Given the description of an element on the screen output the (x, y) to click on. 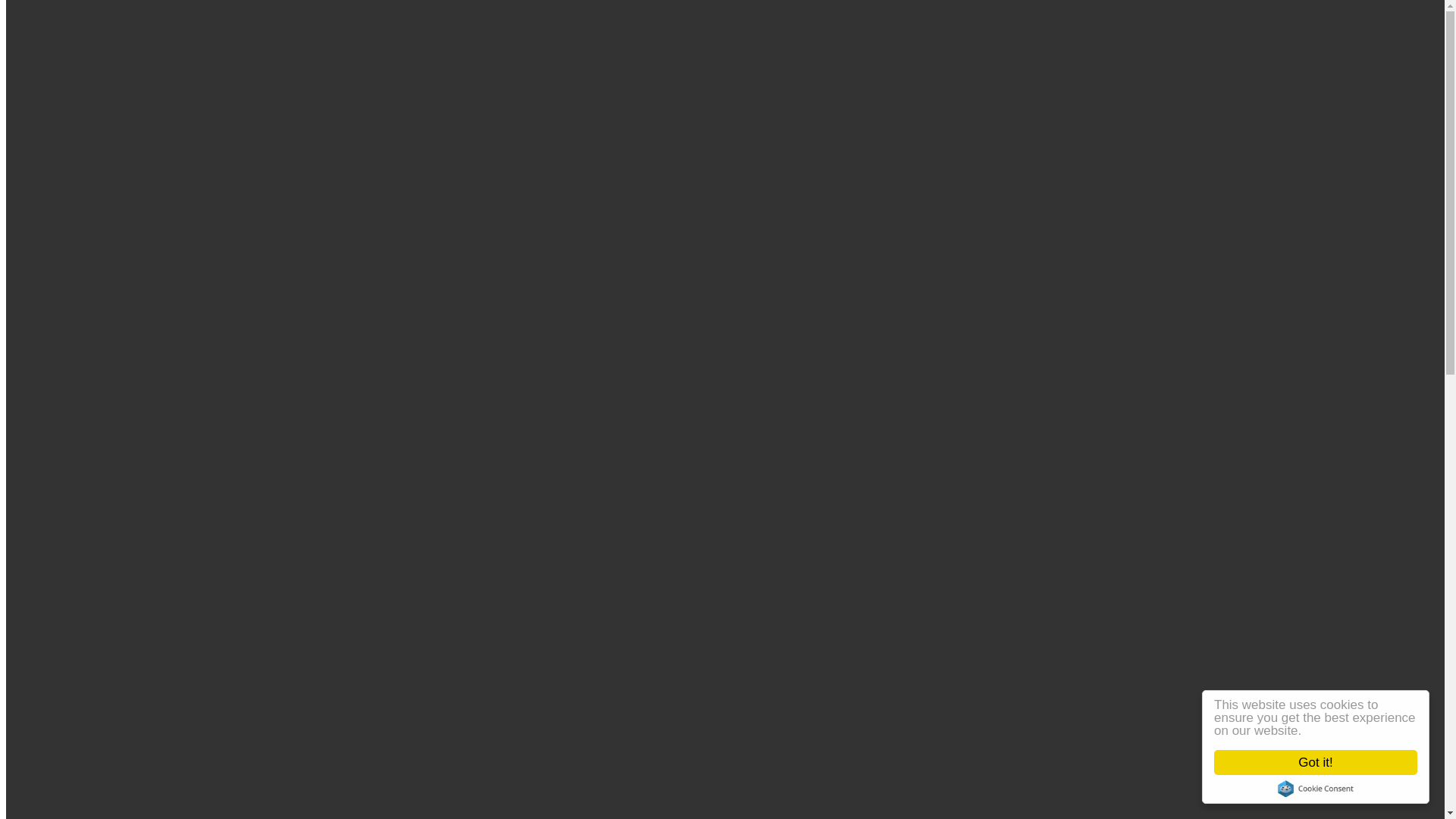
ECRs and other EDMS documents managed by the BE-EA Element type: text (210, 294)
Projects and Resources (PR) Element type: text (135, 362)
Meetings Element type: text (89, 253)
H8 Element type: text (104, 515)
Design & Coordination (DC) Element type: text (137, 321)
K12 Element type: text (107, 529)
About EA Element type: text (60, 212)
Cookie Consent plugin for the EU cookie law Element type: text (1315, 788)
Skip to main content Element type: text (6, 15)
H4 Element type: text (104, 488)
T10 Element type: text (106, 404)
Enter the terms you wish to search for. Element type: hover (88, 749)
CERN Accelerating science Element type: text (147, 29)
Gas Element type: text (75, 624)
Vacuum Team Element type: text (100, 665)
M2 Element type: text (105, 542)
Engineering & Configuration Management (EC) Element type: text (184, 335)
Project Element type: text (53, 679)
H2 Element type: text (104, 474)
Experimental Areas Element type: text (84, 376)
News for EA Element type: text (98, 266)
Home Element type: hover (25, 106)
T9 Element type: text (103, 445)
Sign in Element type: text (83, 66)
Admin & Procedure Element type: text (115, 280)
Users Guide Element type: text (66, 706)
Got it! Element type: text (1315, 762)
Weekly Machine Report Element type: text (125, 583)
T11 CLOUD Element type: text (128, 418)
HiRadMat Element type: text (92, 556)
AD-CONS Element type: text (93, 693)
SEARCH Element type: text (60, 734)
H6 Element type: text (104, 501)
Cabling Team Element type: text (100, 611)
East Area Element type: text (91, 391)
BE Element type: text (43, 198)
Beam Lines Responsibles Element type: text (128, 570)
Directory Element type: text (59, 80)
Sections Element type: text (56, 307)
Services & Support Element type: text (83, 597)
Toggle navigation Element type: text (51, 172)
Liaison to Experiments (LE) Element type: text (136, 348)
Mandate Element type: text (87, 225)
North Area Element type: text (95, 461)
Mechanical Workshop Element type: text (120, 638)
T8 : IRRAD & CHARM Element type: text (157, 432)
Scaffolding Team Element type: text (109, 652)
SBA website Element type: text (67, 720)
Organigram Element type: text (95, 239)
